Given the description of an element on the screen output the (x, y) to click on. 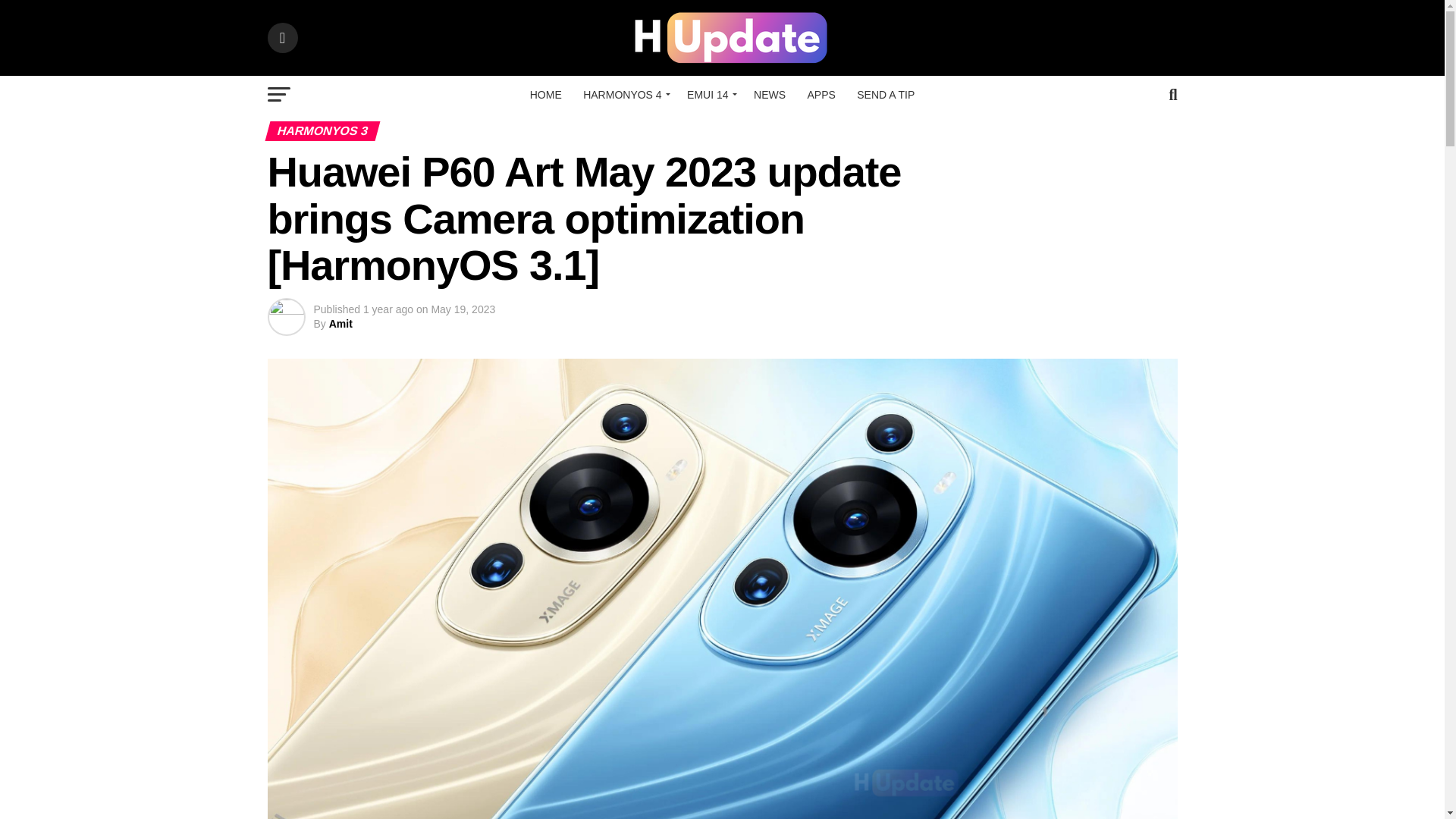
NEWS (769, 94)
Posts by Amit (340, 323)
HOME (545, 94)
EMUI 14 (709, 94)
HARMONYOS 4 (623, 94)
